Given the description of an element on the screen output the (x, y) to click on. 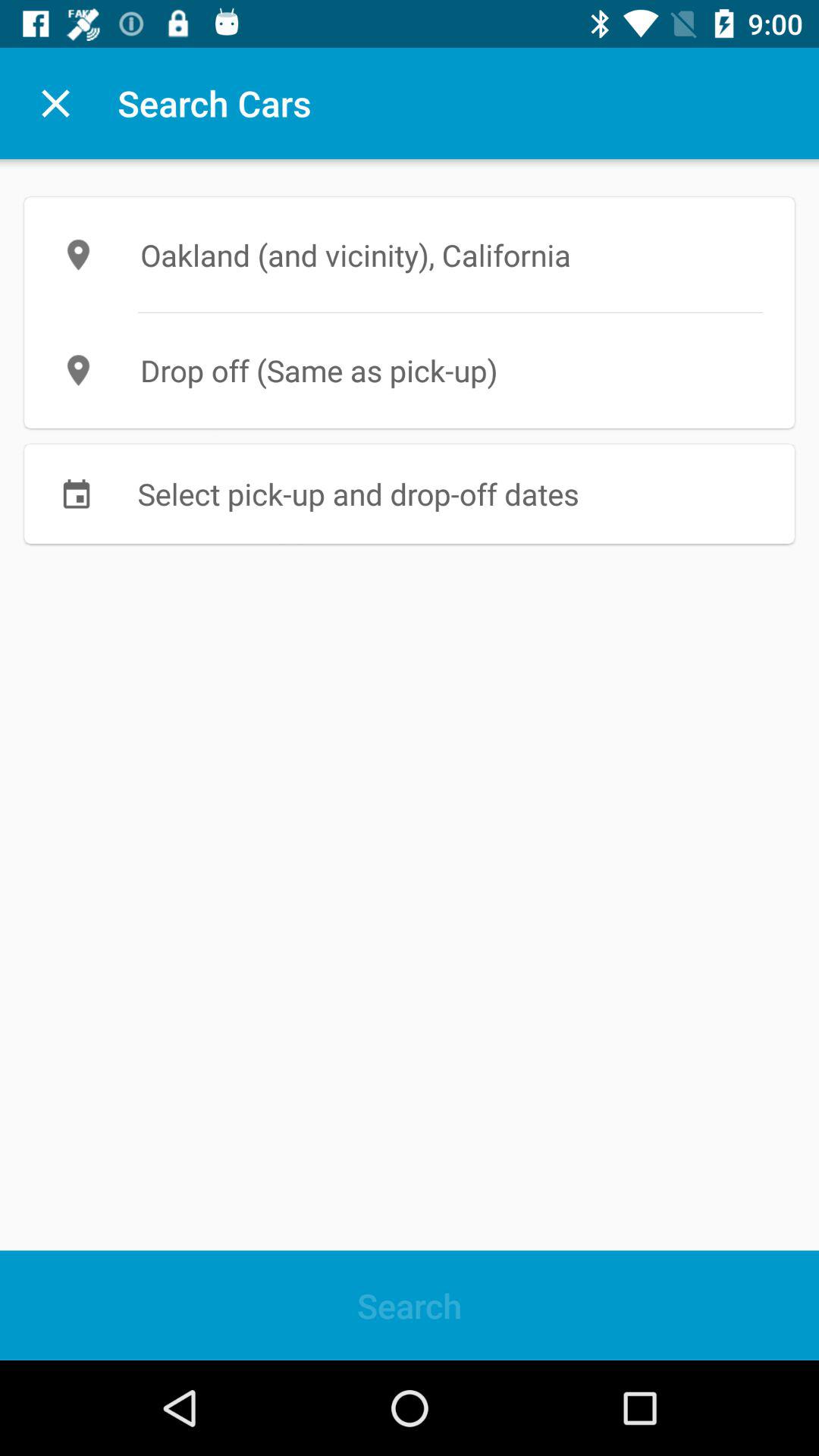
turn off the icon next to search cars (55, 103)
